Given the description of an element on the screen output the (x, y) to click on. 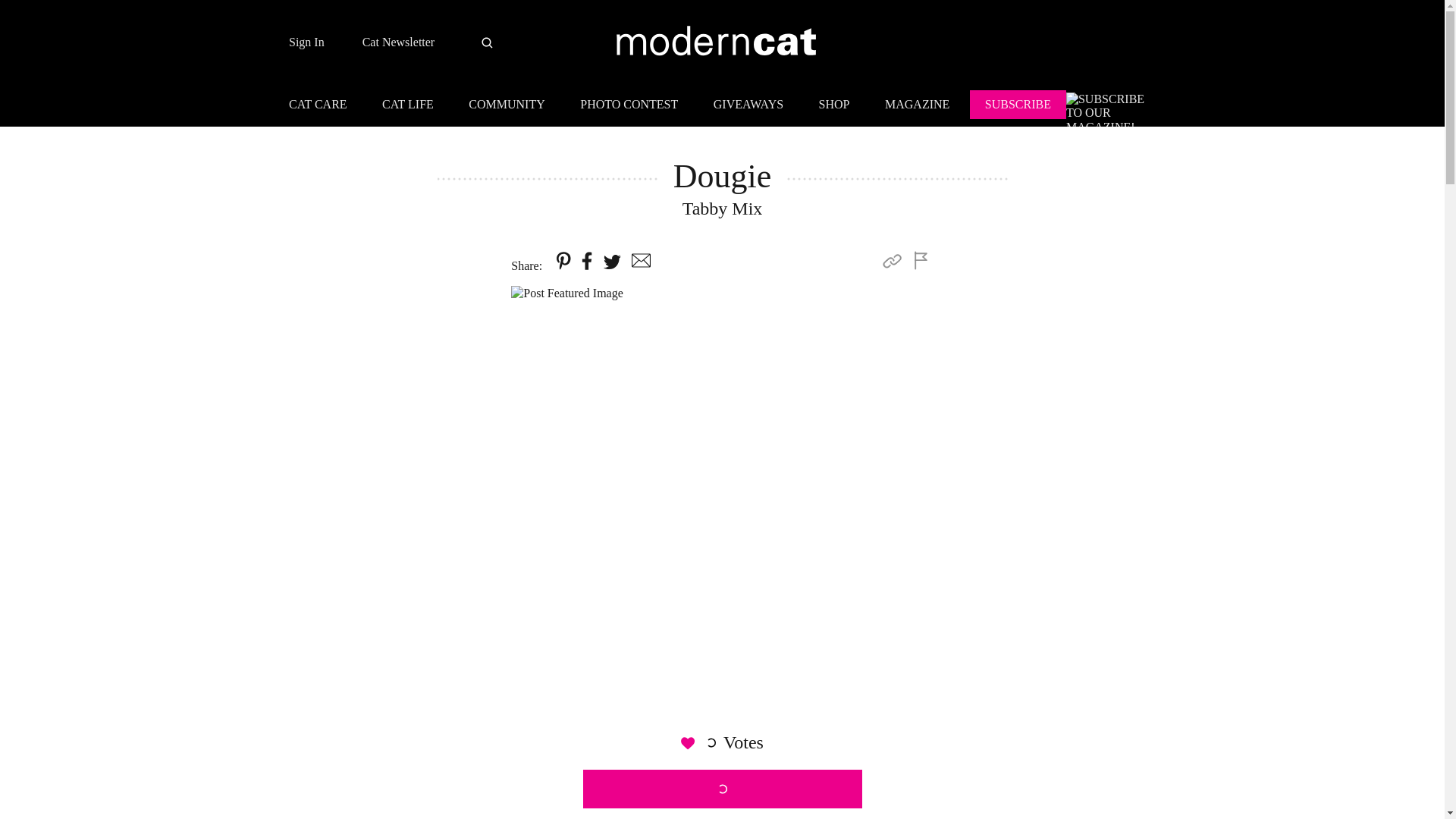
Cat Newsletter (398, 42)
CAT LIFE (407, 106)
CAT CARE (325, 106)
Sign In (306, 42)
